Given the description of an element on the screen output the (x, y) to click on. 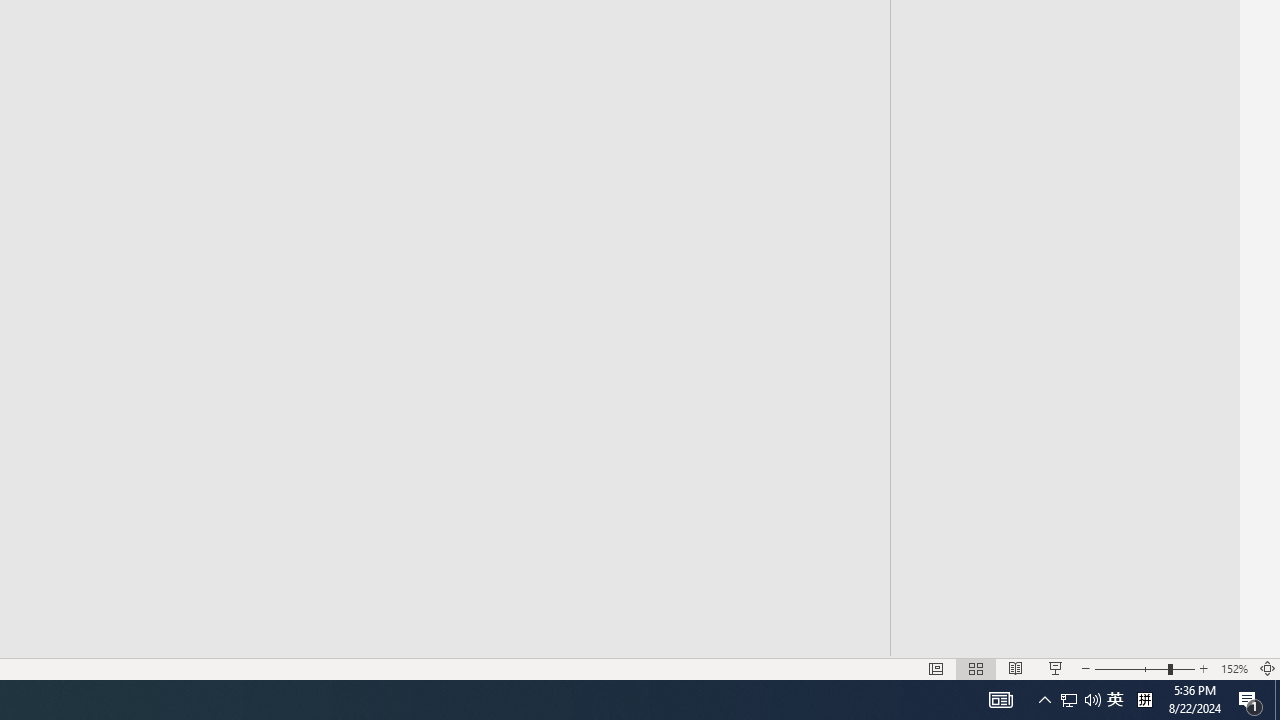
Zoom 152% (1234, 668)
